Given the description of an element on the screen output the (x, y) to click on. 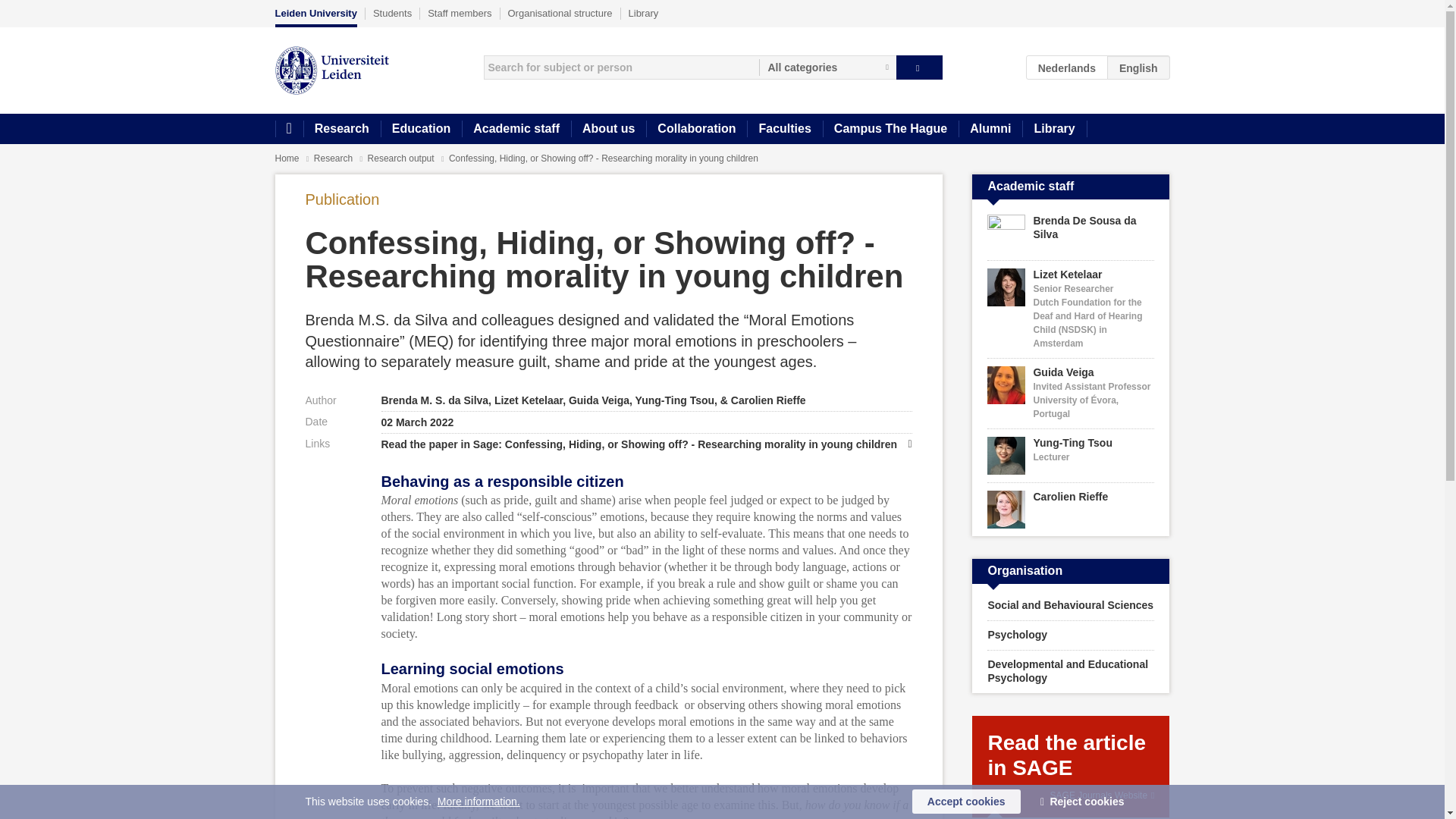
Collaboration (696, 128)
About us (608, 128)
Library (1054, 128)
Academic staff (515, 128)
Research output (402, 158)
Faculties (784, 128)
Research (341, 128)
NL (1067, 67)
Search (919, 67)
Alumni (990, 128)
